Given the description of an element on the screen output the (x, y) to click on. 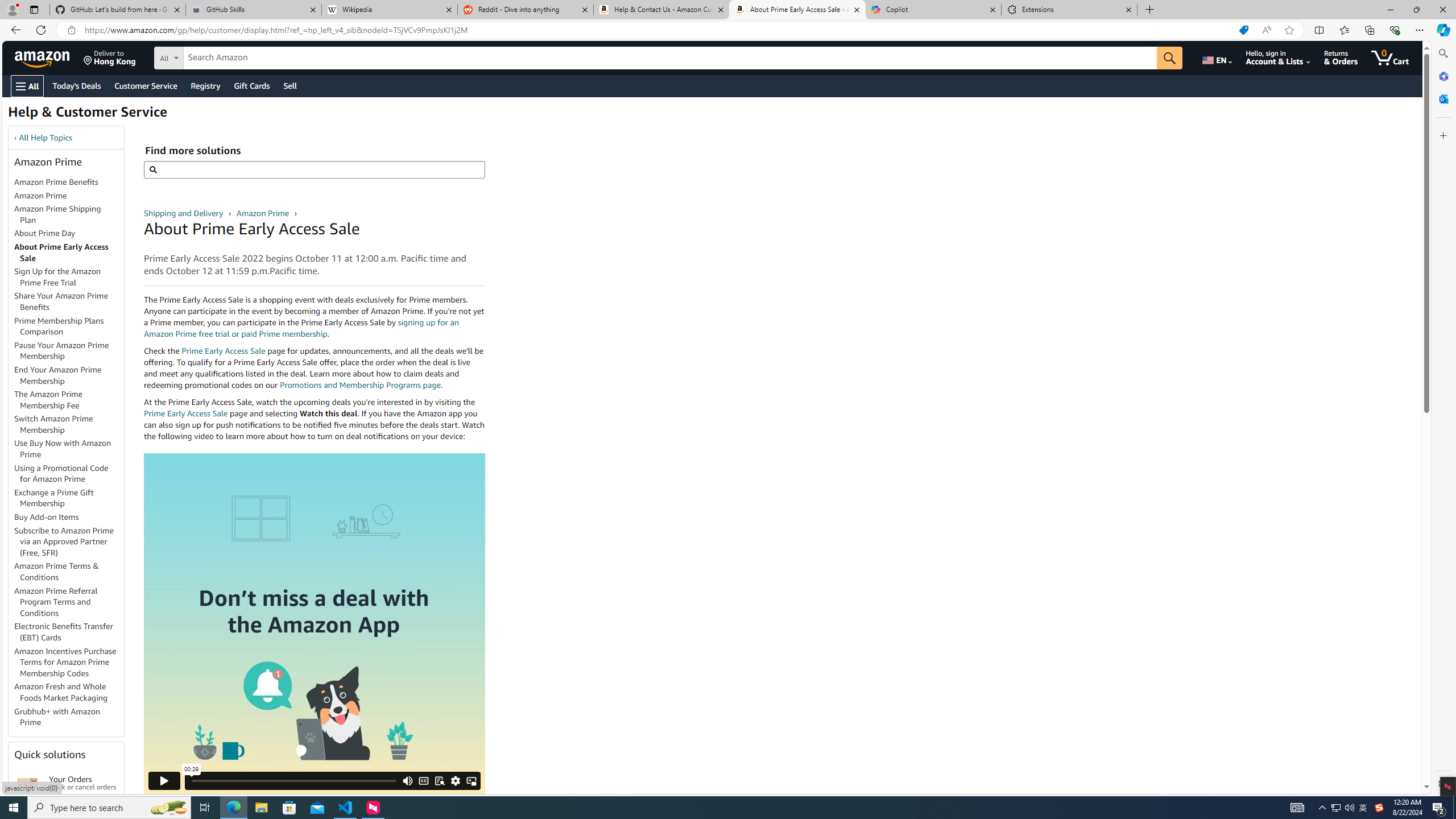
Share Your Amazon Prime Benefits (61, 301)
Find more solutions (314, 169)
Copilot (933, 9)
Promotions and Membership Programs page (360, 384)
Amazon Prime Shipping Plan (68, 214)
Amazon Prime Benefits (56, 181)
Buy Add-on Items (46, 516)
Volume (use up/down arrow keys to change) (407, 739)
Use Buy Now with Amazon Prime (63, 449)
The Amazon Prime Membership Fee (68, 400)
Hello, sign in Account & Lists (1278, 57)
Choose a language for shopping. (1216, 57)
